Given the description of an element on the screen output the (x, y) to click on. 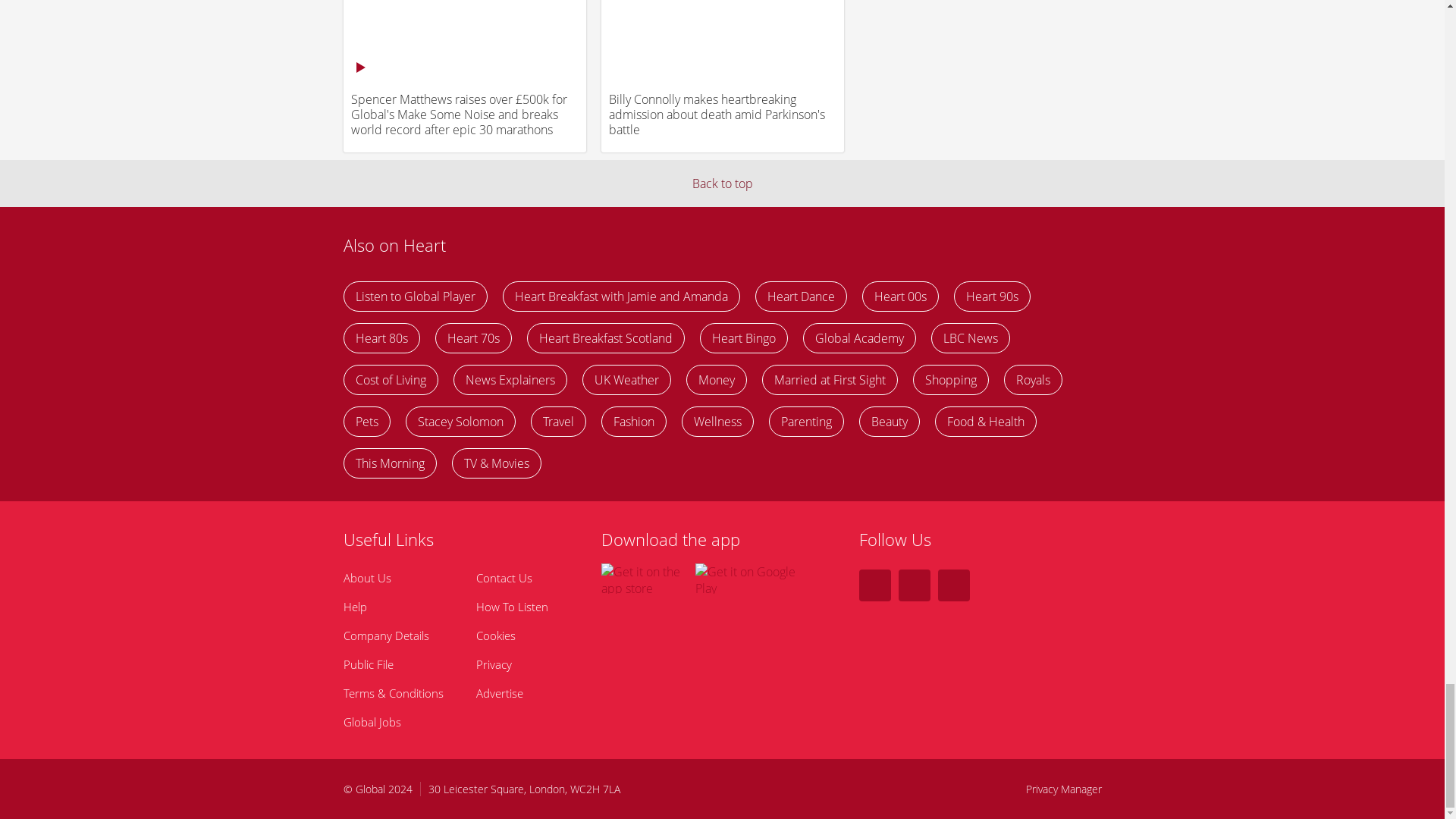
Follow Heart on Facebook (874, 585)
Follow Heart on Youtube (953, 585)
Follow Heart on Instagram (914, 585)
Back to top (721, 183)
